Given the description of an element on the screen output the (x, y) to click on. 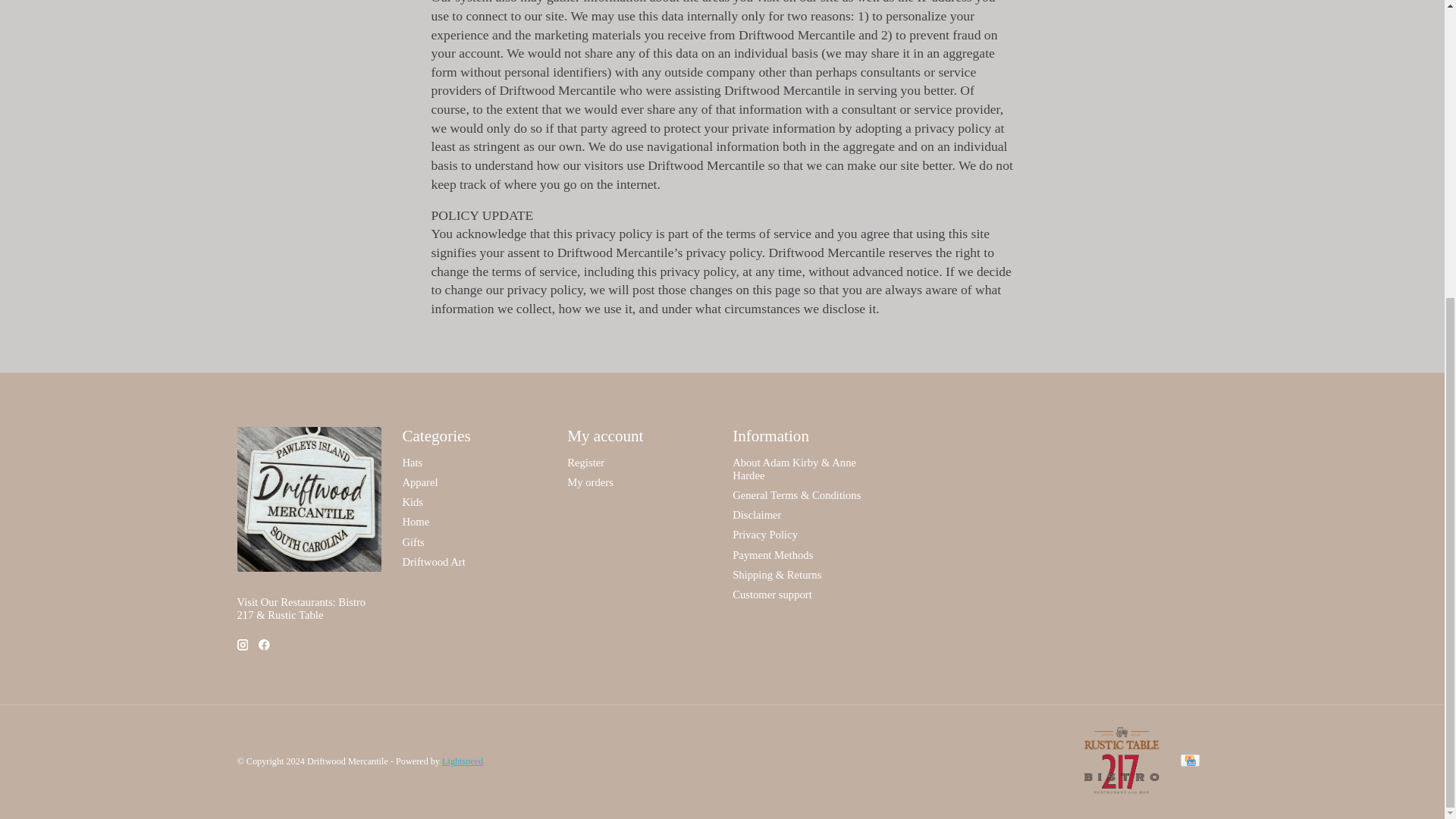
My orders (589, 481)
Register (585, 462)
Apparel (419, 481)
Home (415, 521)
Payment Methods (772, 554)
Bistro 217 (1120, 789)
My orders (589, 481)
Credit Card (1188, 761)
Lightspeed (462, 760)
Disclaimer (756, 514)
